Given the description of an element on the screen output the (x, y) to click on. 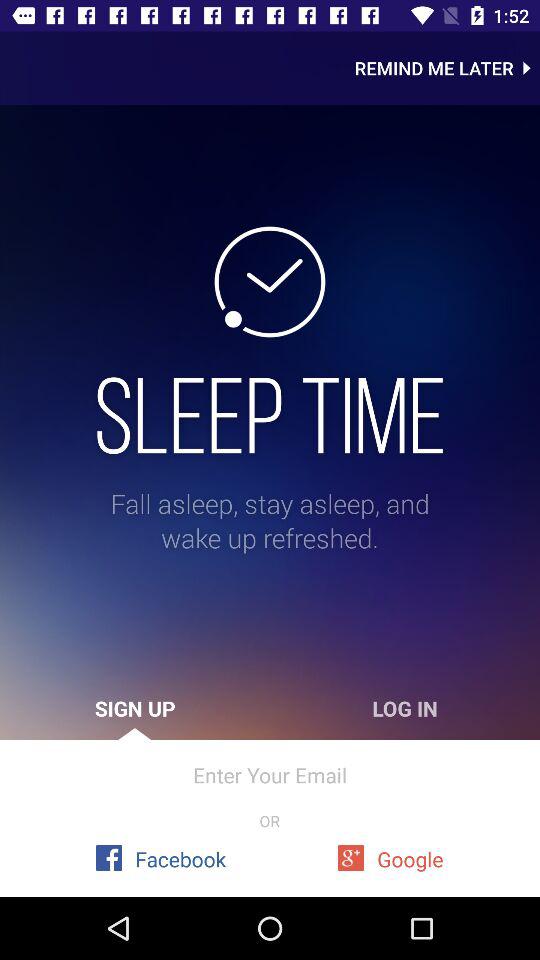
select the icon below sign up icon (270, 774)
